Given the description of an element on the screen output the (x, y) to click on. 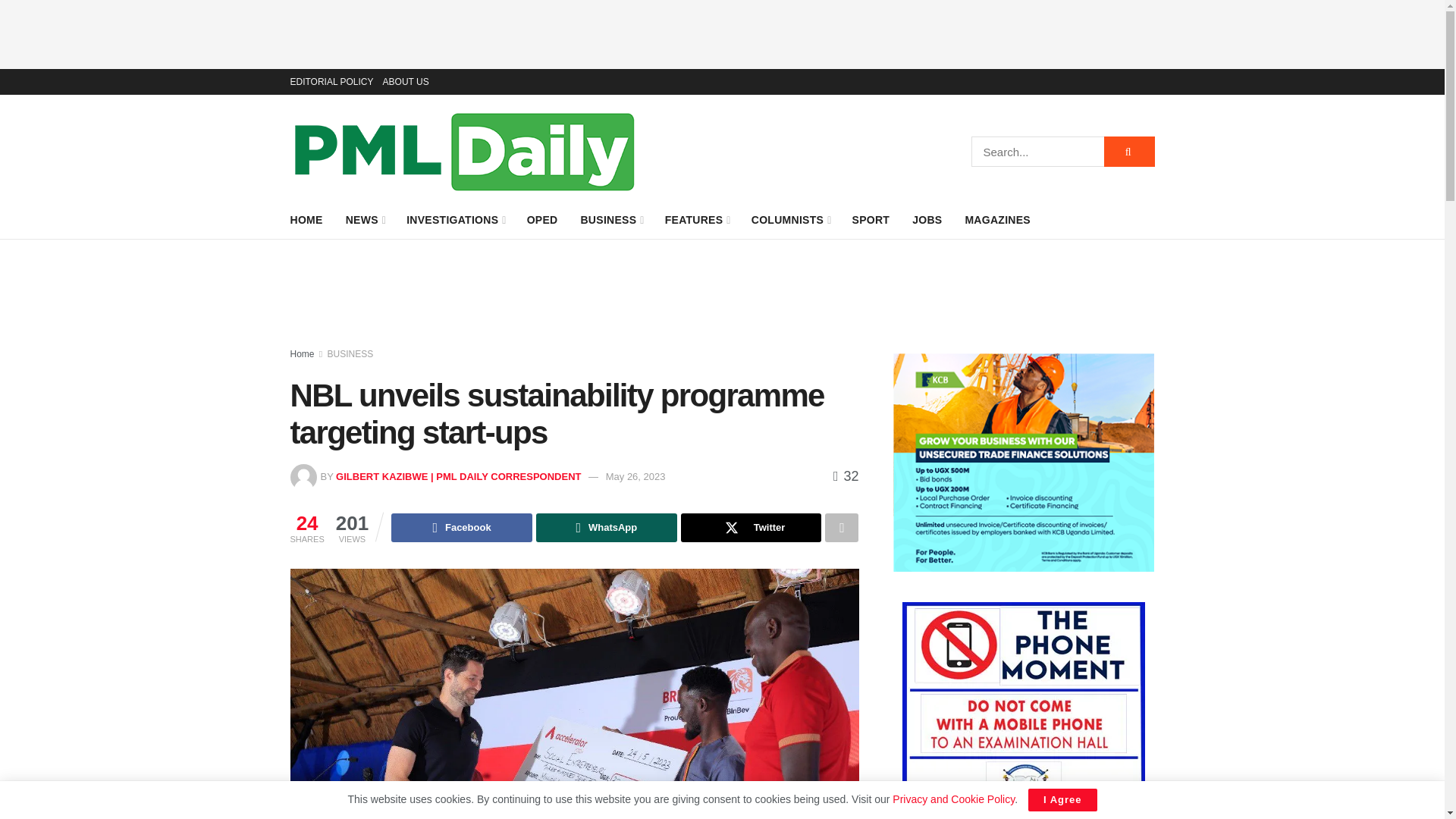
MAGAZINES (996, 219)
INVESTIGATIONS (454, 219)
NEWS (365, 219)
3rd party ad content (721, 34)
COLUMNISTS (790, 219)
FEATURES (697, 219)
SPORT (870, 219)
ABOUT US (405, 81)
HOME (305, 219)
OPED (542, 219)
EDITORIAL POLICY (330, 81)
BUSINESS (610, 219)
JOBS (927, 219)
